Given the description of an element on the screen output the (x, y) to click on. 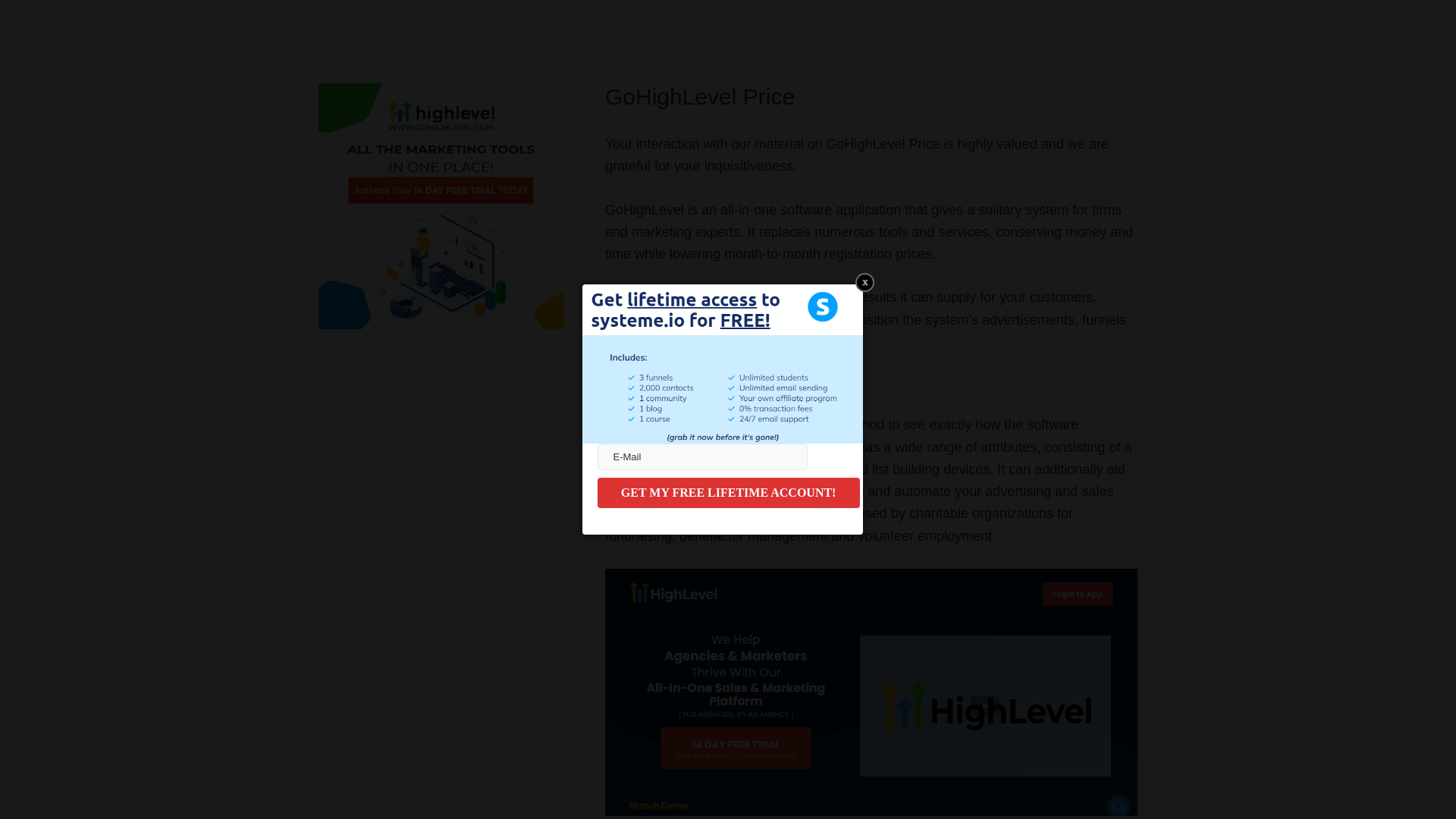
GET MY FREE LIFETIME ACCOUNT! (728, 492)
GET MY FREE LIFETIME ACCOUNT! (728, 492)
